Given the description of an element on the screen output the (x, y) to click on. 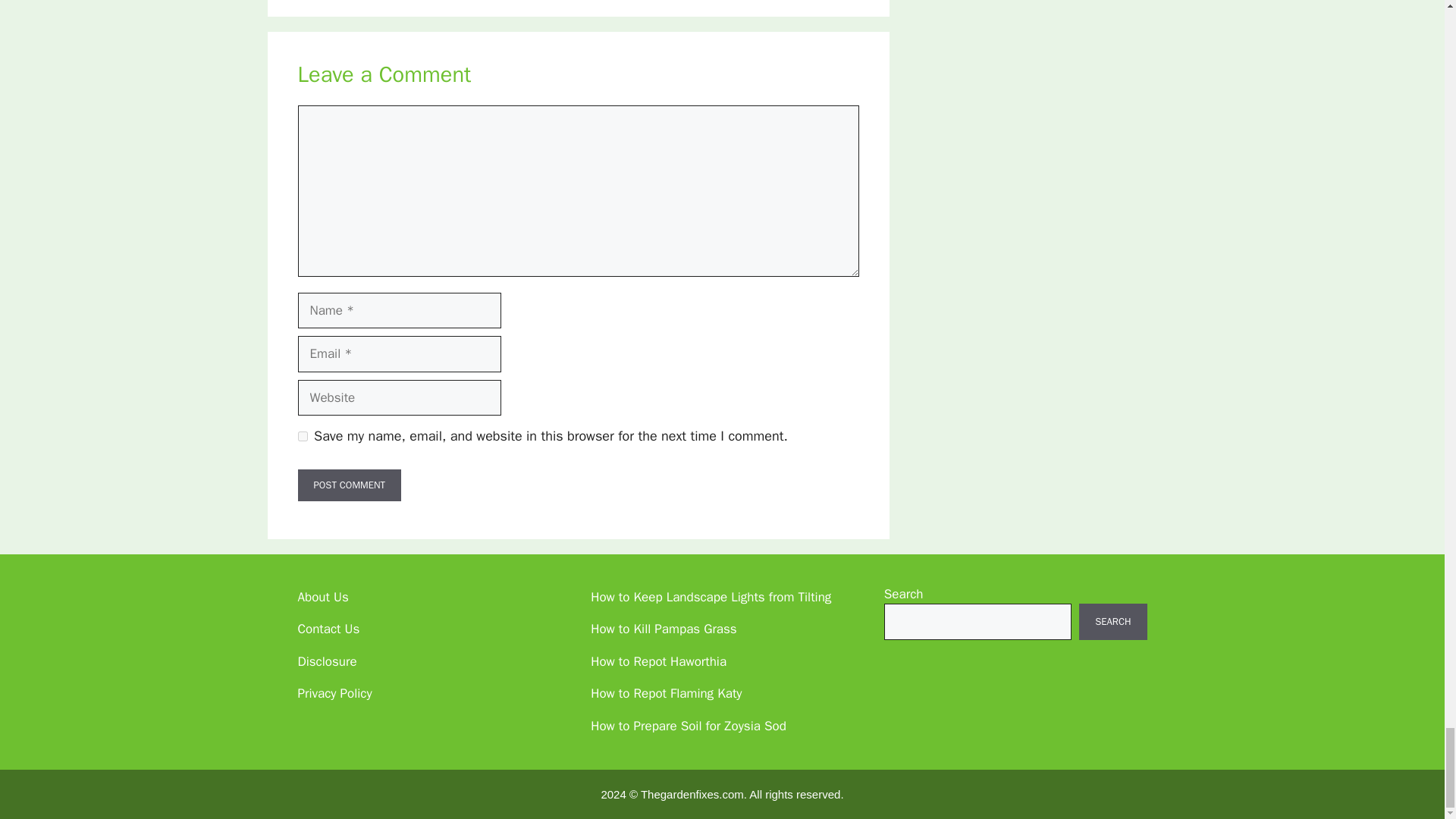
yes (302, 436)
How to Kill Pampas Grass (663, 628)
How to Repot Flaming Katy (666, 693)
How to Keep Landscape Lights from Tilting (711, 596)
SEARCH (1112, 621)
Post Comment (349, 485)
Post Comment (349, 485)
How to Repot Haworthia (658, 661)
Disclosure (326, 661)
About Us (322, 596)
